Given the description of an element on the screen output the (x, y) to click on. 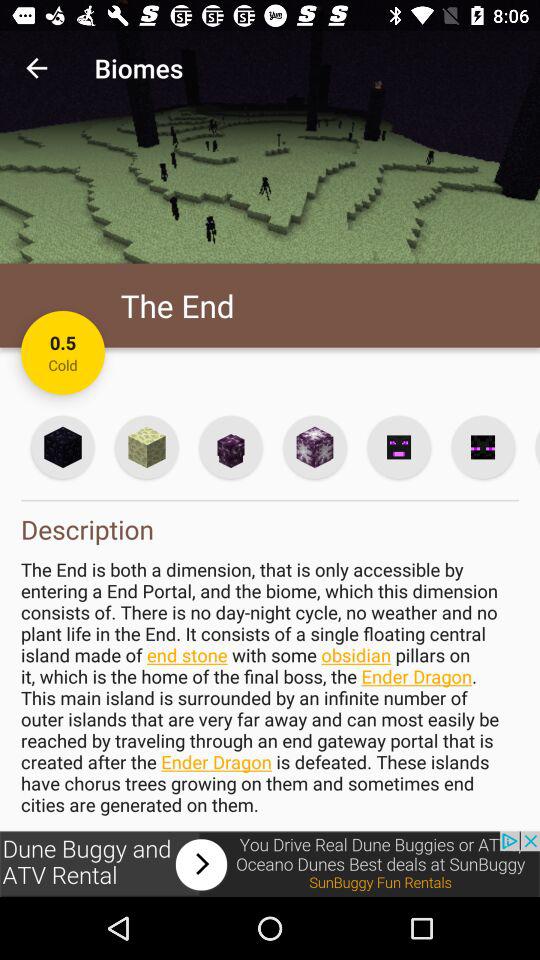
view cube information (146, 446)
